Given the description of an element on the screen output the (x, y) to click on. 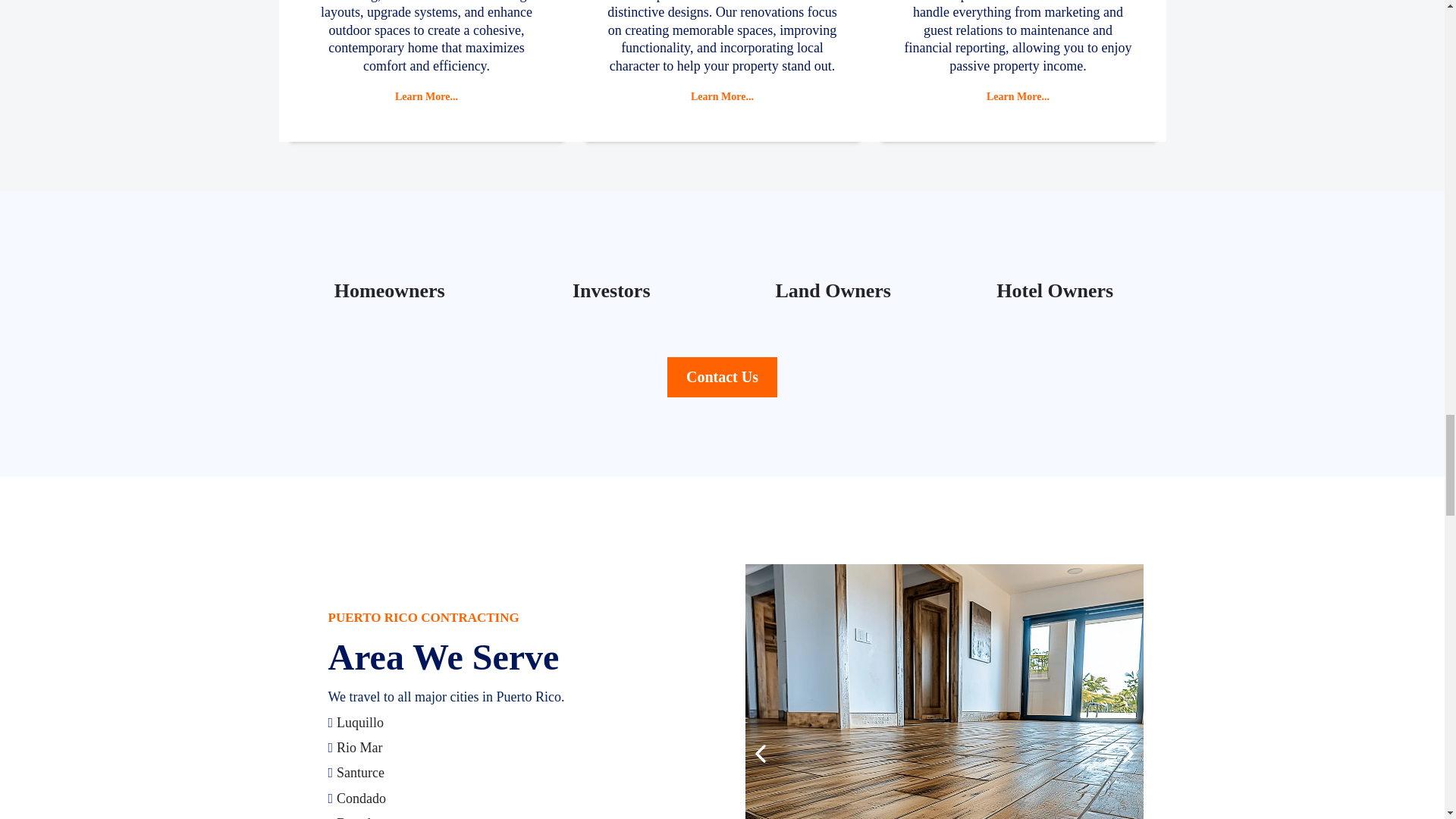
Learn More... (1018, 96)
Contact Us (721, 377)
Learn More... (426, 96)
Learn More... (722, 96)
